Given the description of an element on the screen output the (x, y) to click on. 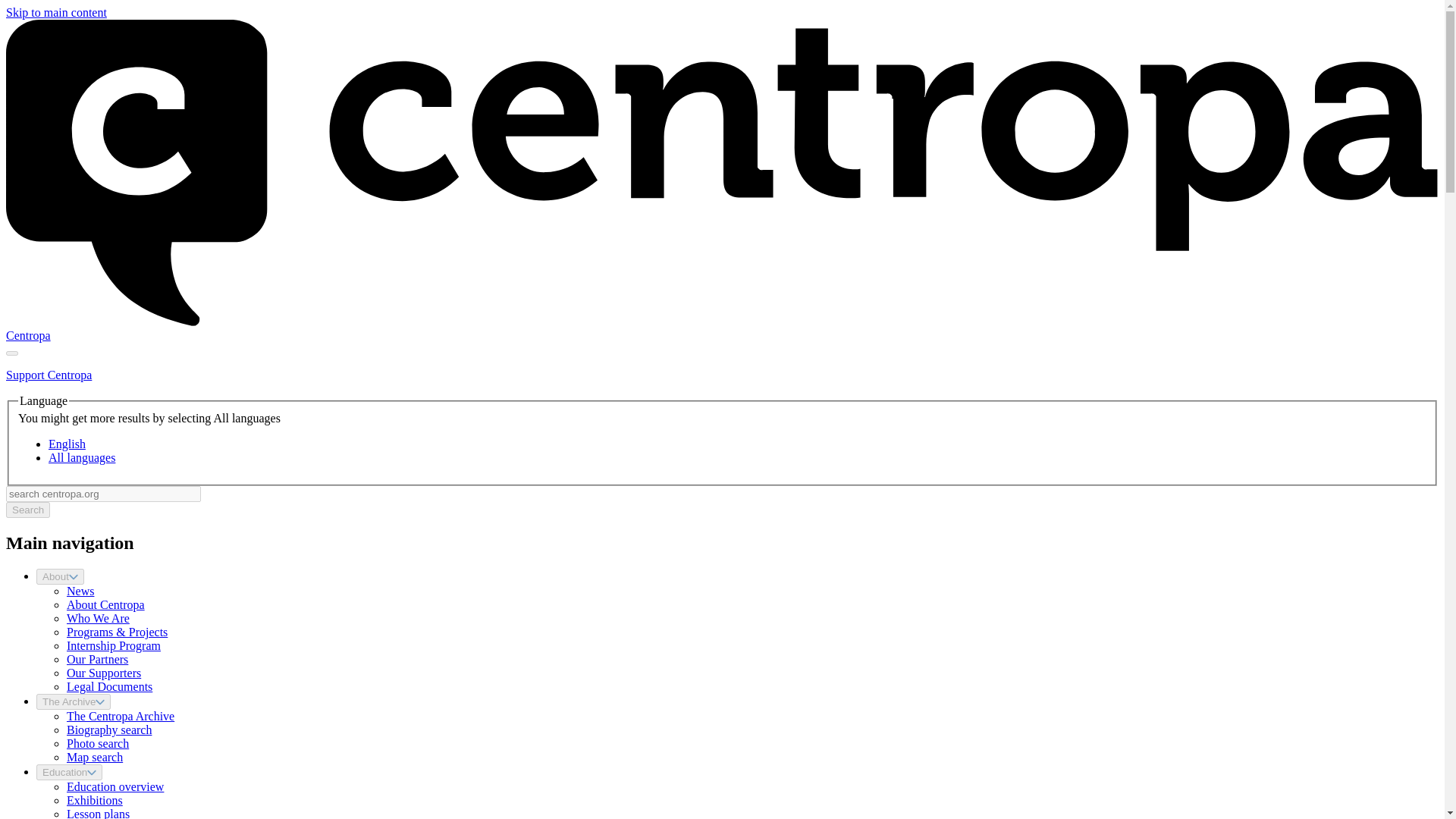
Map search (94, 757)
Support Centropa (48, 374)
Search (27, 509)
Exhibitions (94, 799)
Biography search (108, 729)
About (60, 576)
Our Supporters (103, 672)
Centropa (27, 335)
Education overview (114, 786)
Who We Are (97, 617)
The Archive (73, 701)
The Centropa Archive (120, 716)
Internship Program (113, 645)
Search (27, 509)
Skip to main content (55, 11)
